Given the description of an element on the screen output the (x, y) to click on. 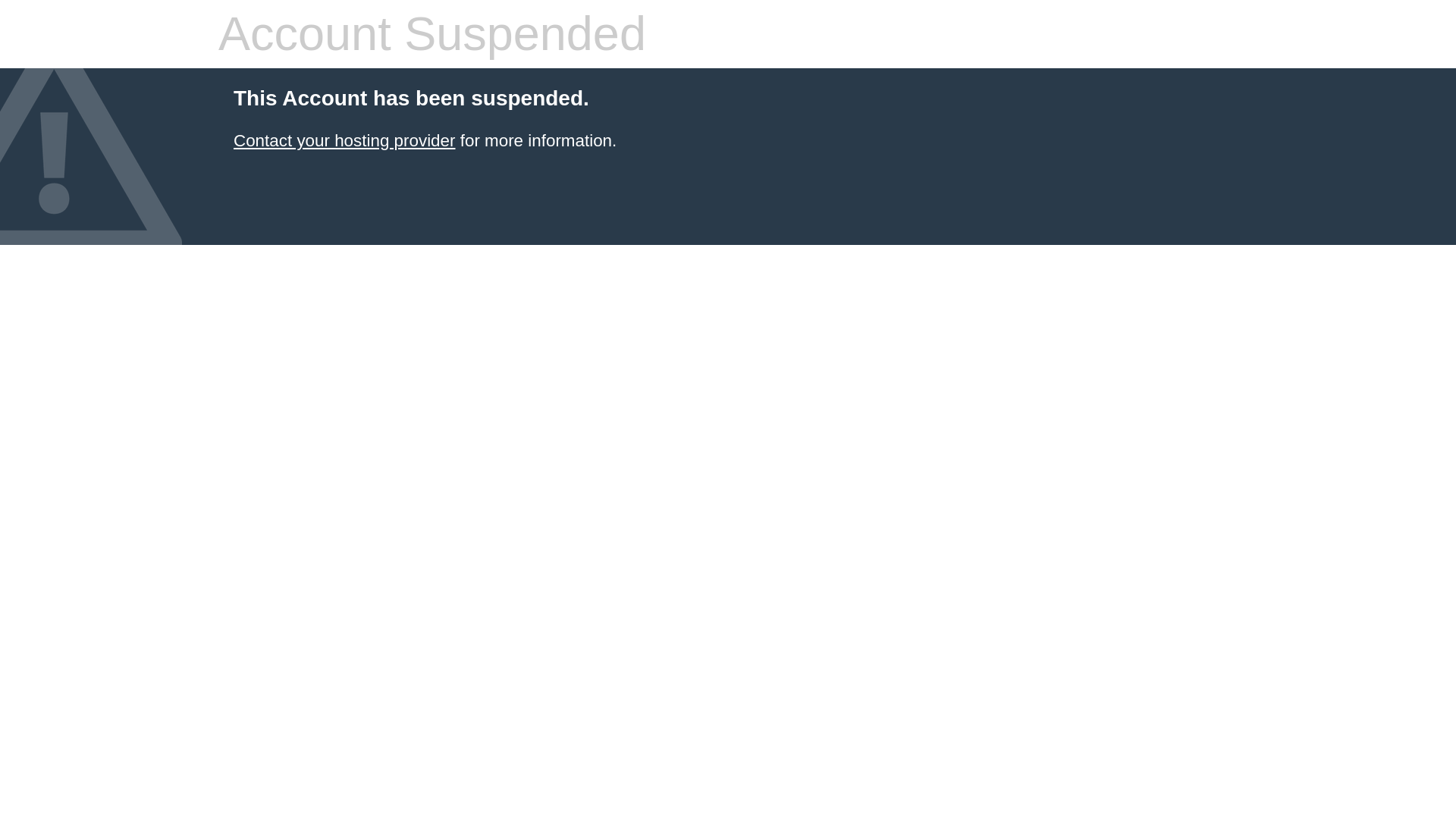
Contact your hosting provider (343, 140)
AimDaddy (343, 140)
